Given the description of an element on the screen output the (x, y) to click on. 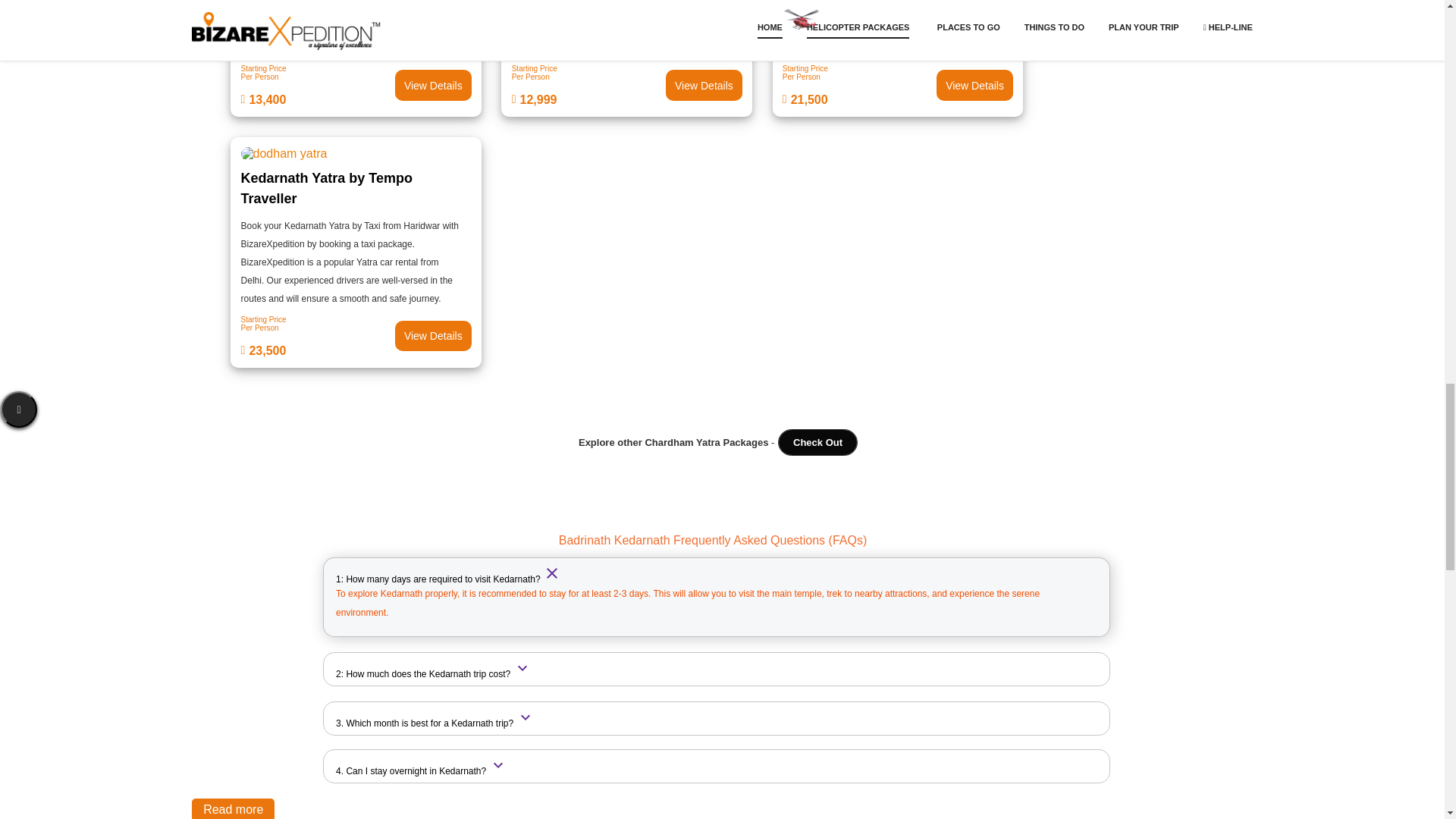
View Details (356, 84)
